Given the description of an element on the screen output the (x, y) to click on. 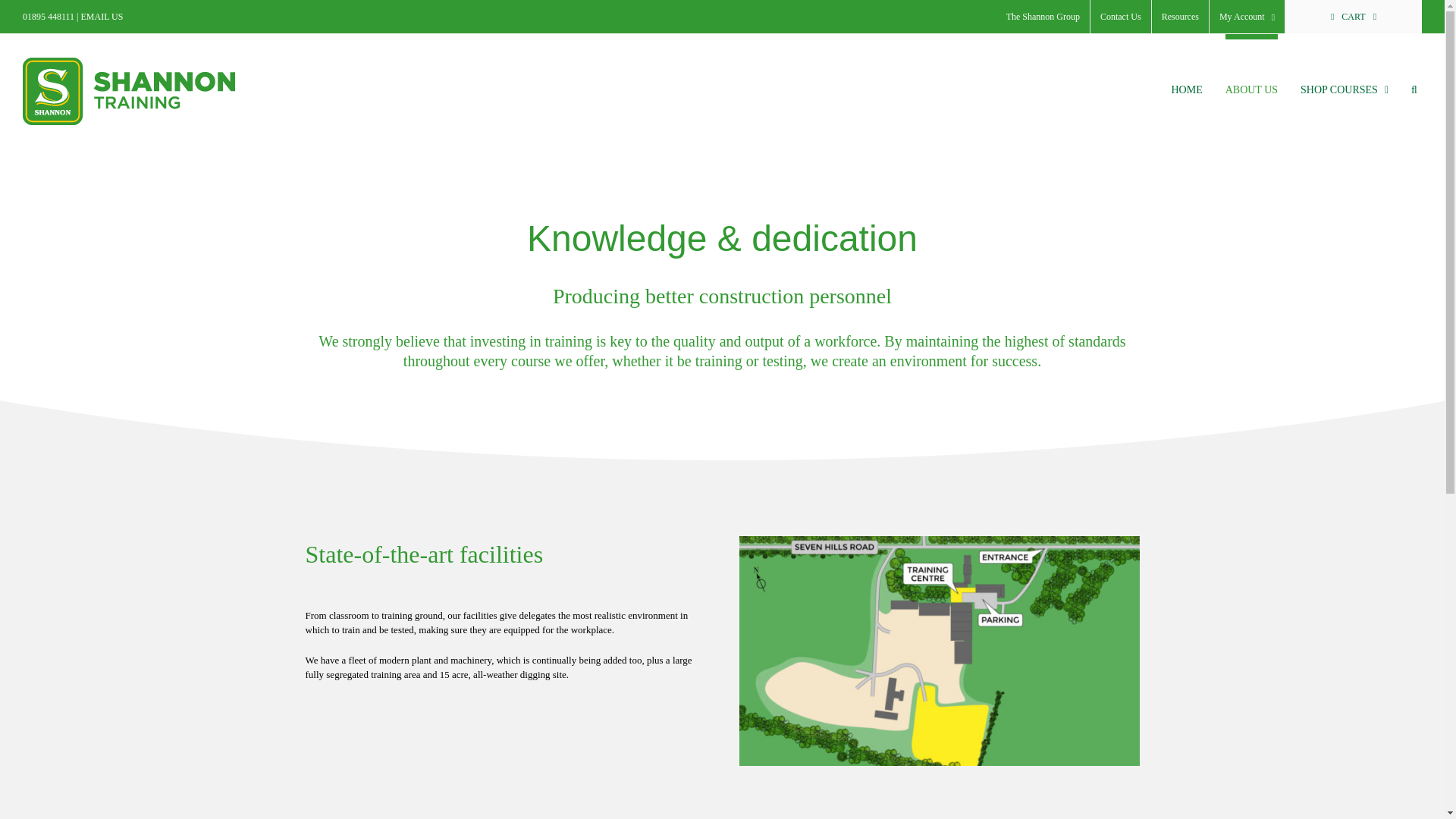
CART (1353, 16)
My Account (1246, 16)
Resources (1179, 16)
Contact Us (1120, 16)
The Shannon Group (1042, 16)
EMAIL US (102, 16)
Log In (1230, 144)
